Given the description of an element on the screen output the (x, y) to click on. 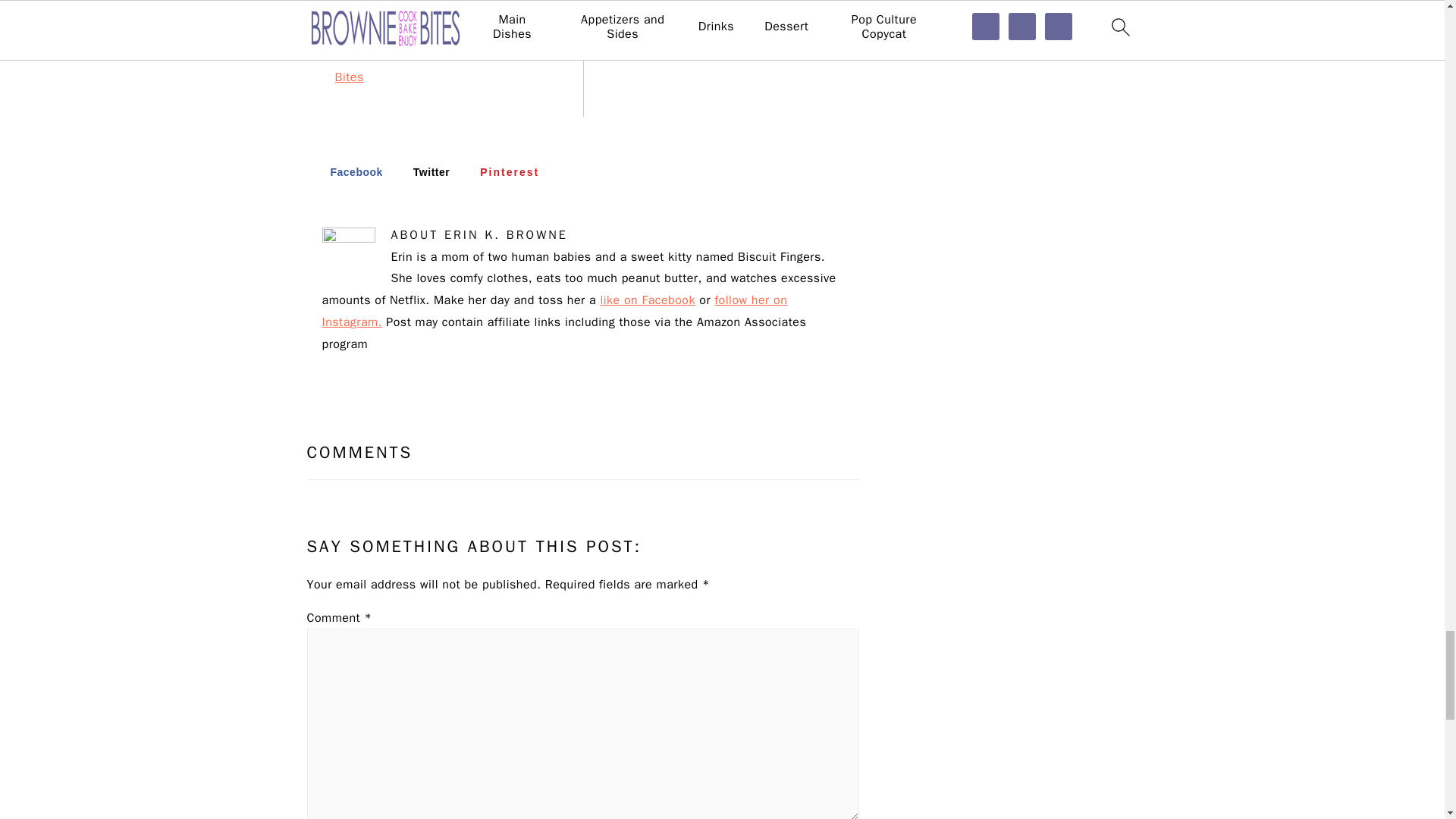
Share on X (423, 171)
Share on Facebook (346, 171)
Save to Pinterest (501, 171)
